Given the description of an element on the screen output the (x, y) to click on. 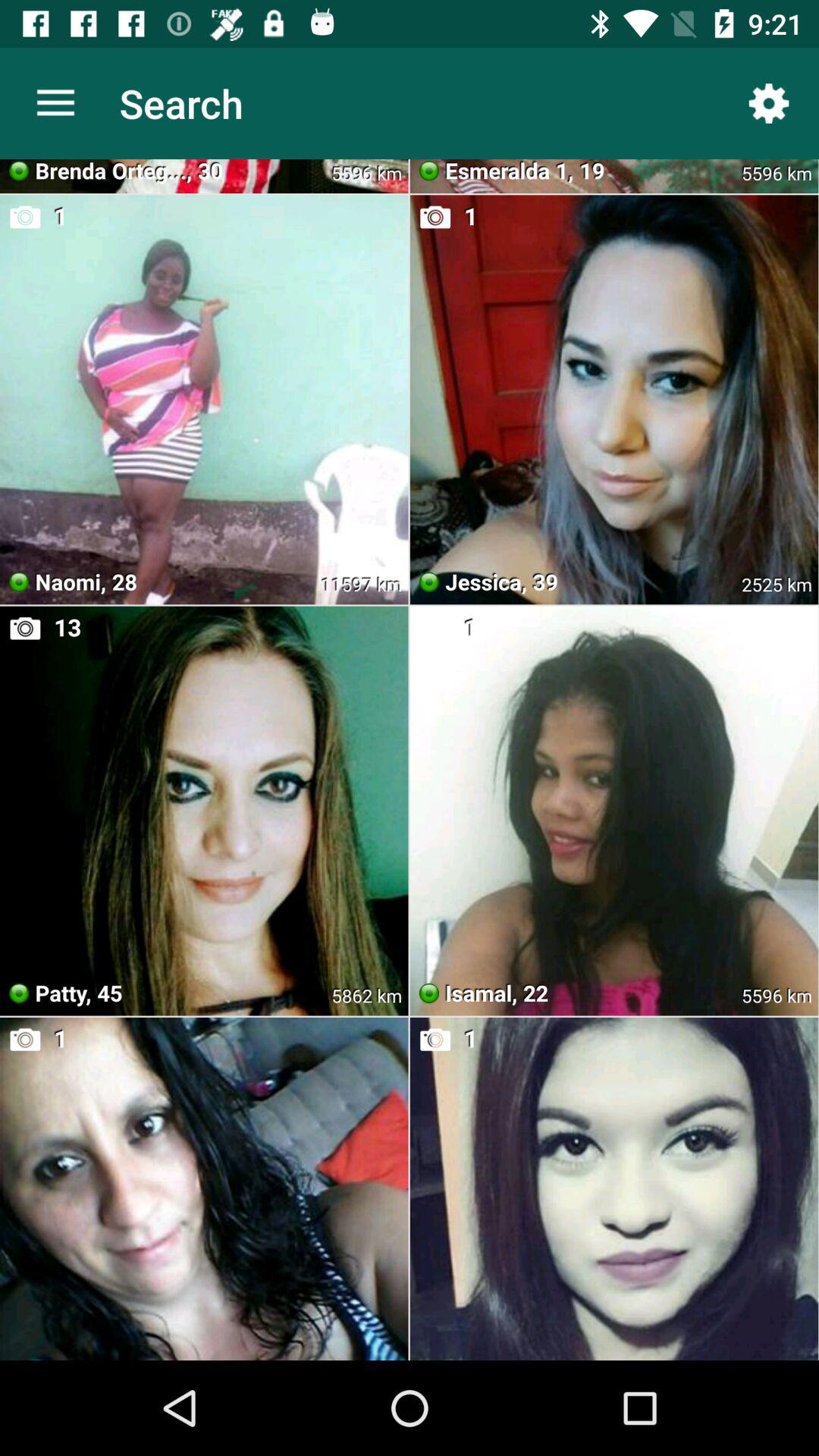
turn on the app next to search (768, 103)
